Given the description of an element on the screen output the (x, y) to click on. 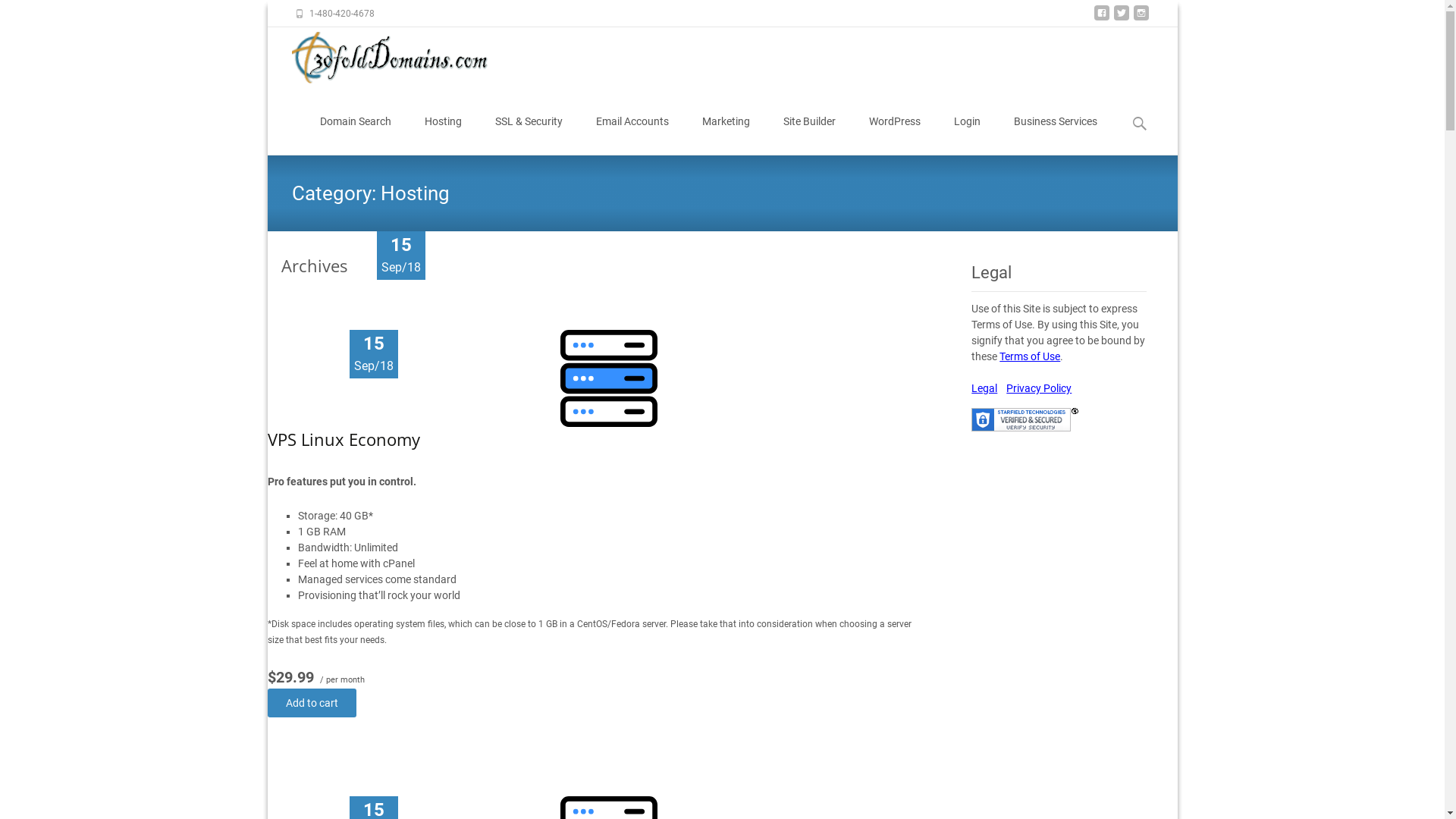
twitter Element type: hover (1120, 18)
VPS Linux Economy Element type: text (342, 438)
Skip to content Element type: text (303, 87)
Email Accounts Element type: text (632, 120)
instagram Element type: hover (1140, 18)
Domain Search Element type: text (355, 120)
Privacy Policy Element type: text (1038, 388)
Terms of Use Element type: text (1029, 356)
WordPress Element type: text (894, 120)
Marketing Element type: text (725, 120)
Login Element type: text (966, 120)
30fold Domains Element type: hover (384, 57)
Business Services Element type: text (1054, 120)
SSL & Security Element type: text (527, 120)
Search Element type: text (18, 15)
Site Builder Element type: text (808, 120)
Hosting Element type: text (442, 120)
Add to cart Element type: text (310, 702)
facebook Element type: hover (1100, 18)
Legal Element type: text (984, 388)
Search Element type: text (35, 15)
